Given the description of an element on the screen output the (x, y) to click on. 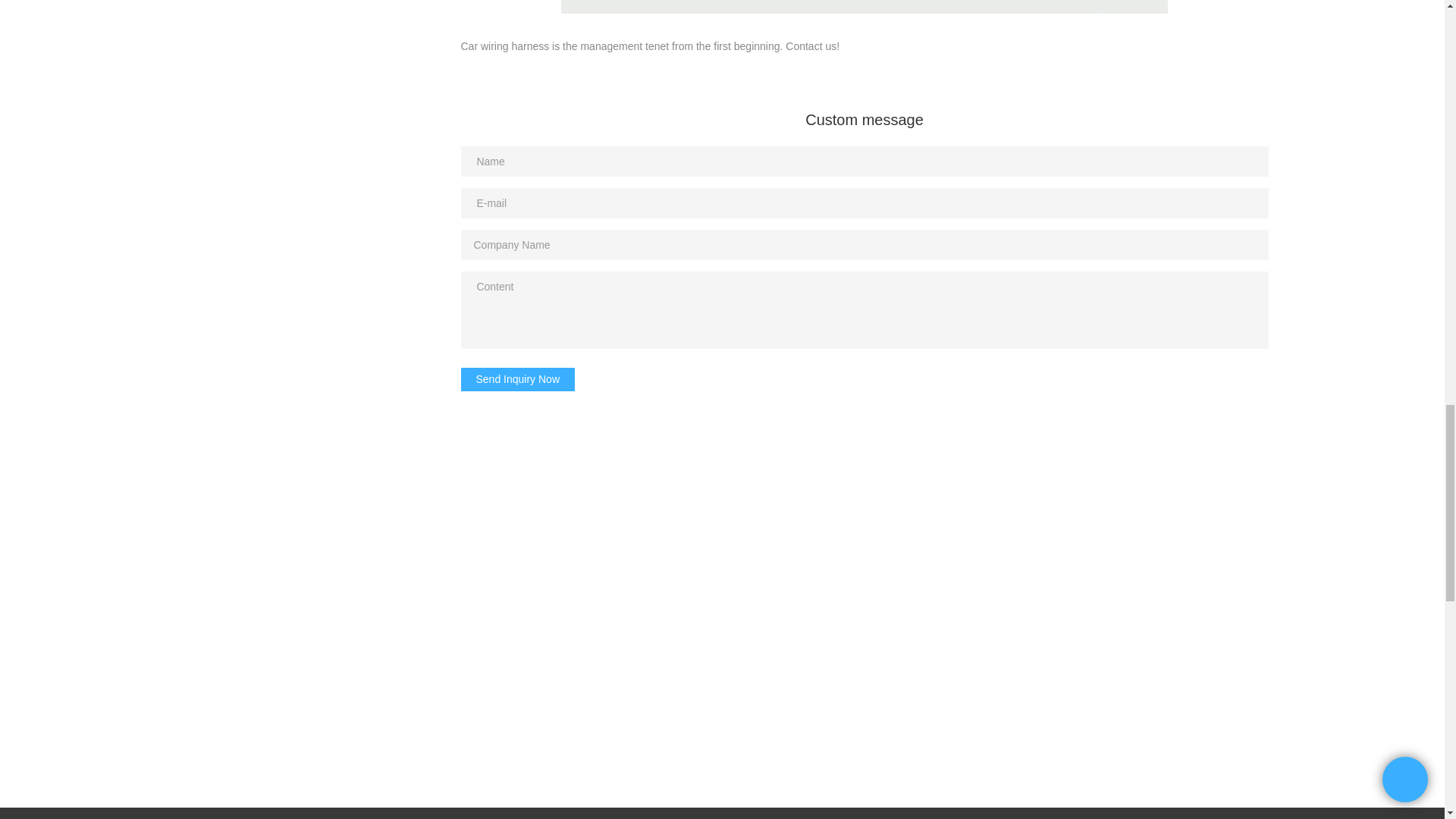
Send Inquiry Now (518, 378)
